Given the description of an element on the screen output the (x, y) to click on. 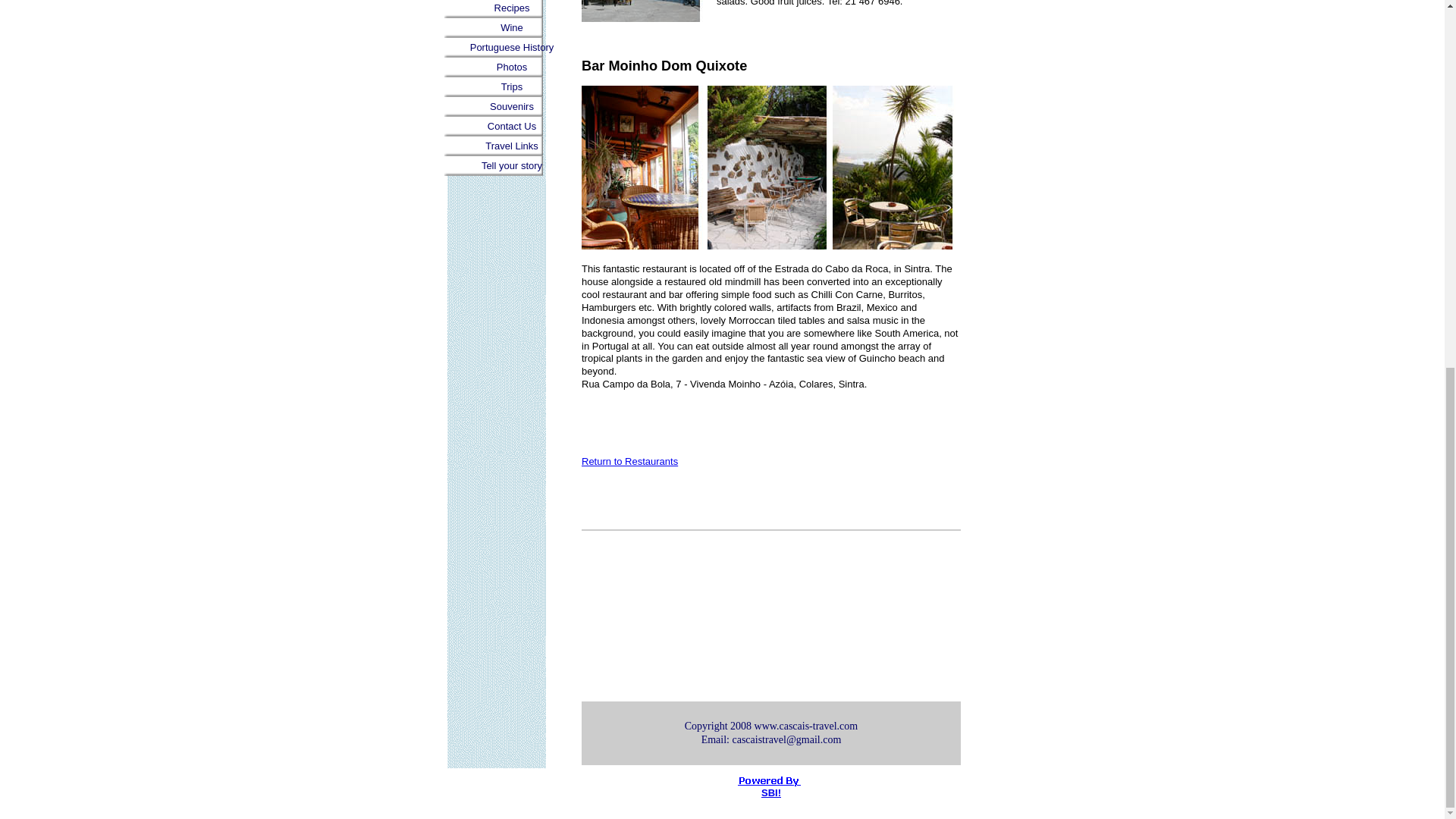
Return to Restaurants (629, 460)
Travel Links (511, 146)
Portuguese History (511, 47)
Tell your story (511, 166)
Trips (511, 86)
Photos (511, 66)
Contact Us (511, 126)
Souvenirs (511, 107)
SBI! (770, 792)
Wine (511, 27)
